Given the description of an element on the screen output the (x, y) to click on. 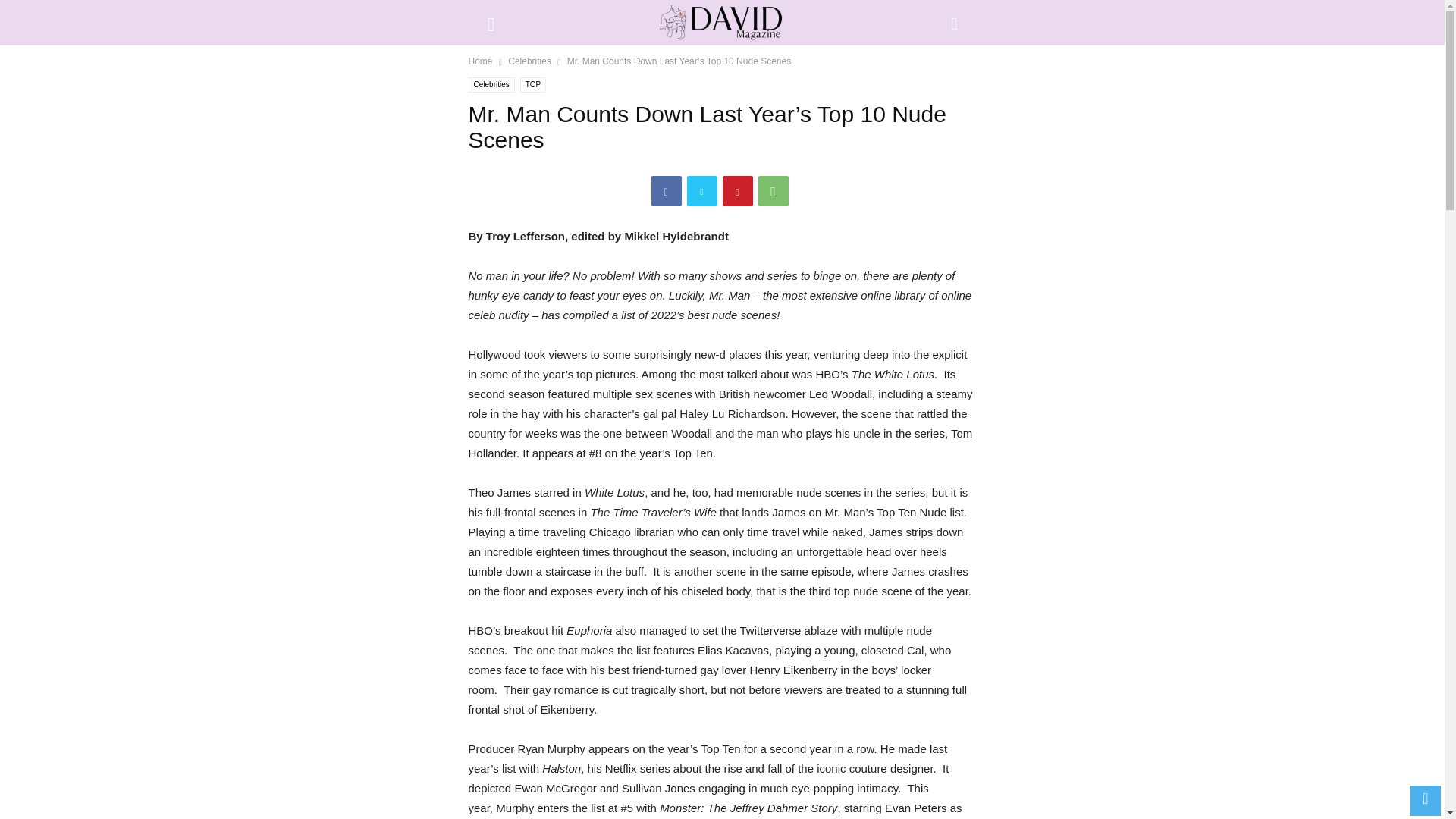
Home (480, 61)
TOP (532, 84)
View all posts in Celebrities (529, 61)
Pinterest (737, 191)
Celebrities (491, 84)
Twitter (702, 191)
Facebook (665, 191)
WhatsApp (773, 191)
Celebrities (529, 61)
